Given the description of an element on the screen output the (x, y) to click on. 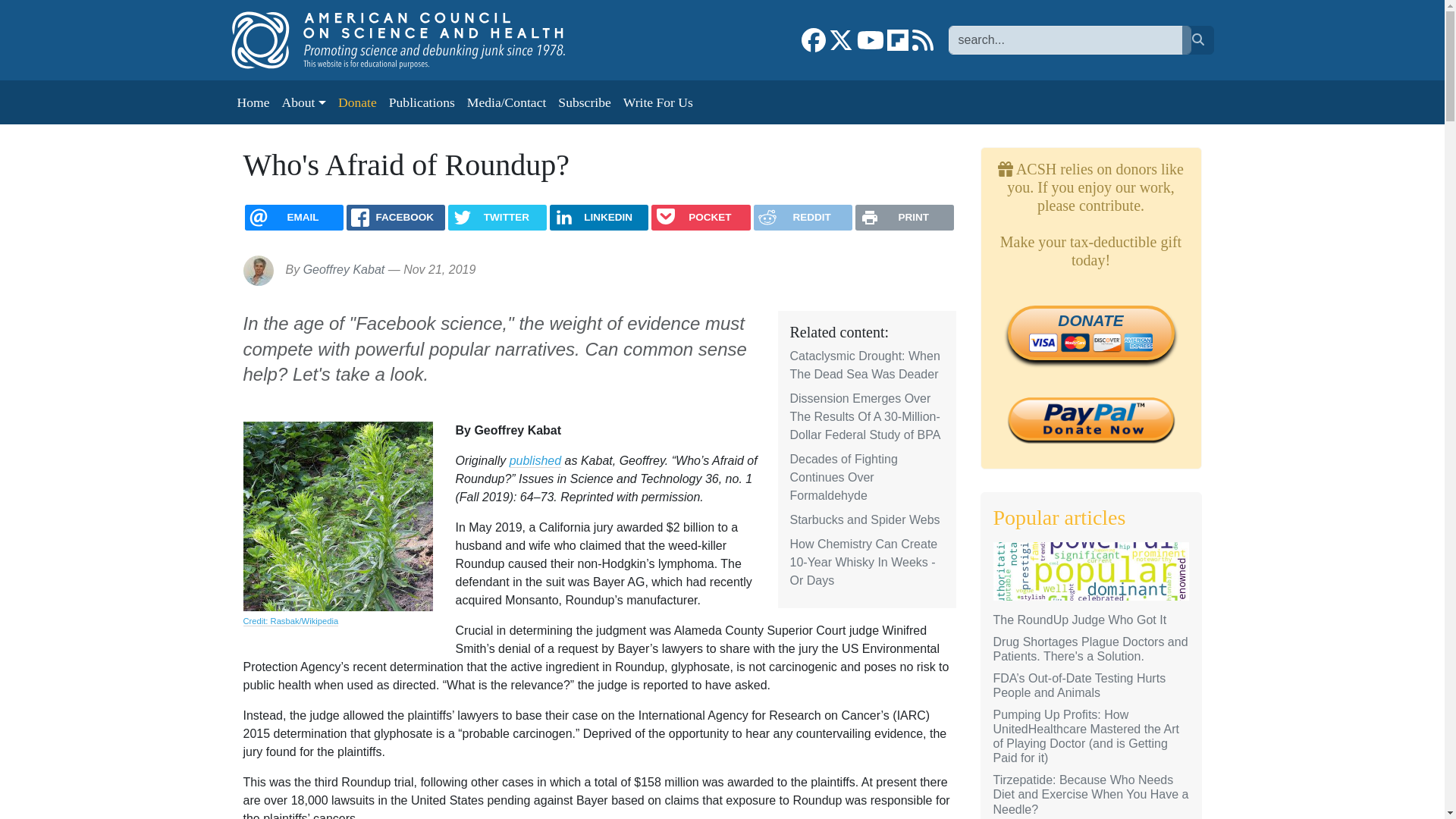
POCKET (699, 217)
Decades of Fighting Continues Over Formaldehyde (844, 477)
FACEBOOK (395, 217)
Home (413, 39)
Donate (356, 101)
TWITTER (497, 217)
published (535, 460)
Cataclysmic Drought: When The Dead Sea Was Deader (865, 364)
EMAIL (293, 217)
Skip to main content (60, 10)
